Given the description of an element on the screen output the (x, y) to click on. 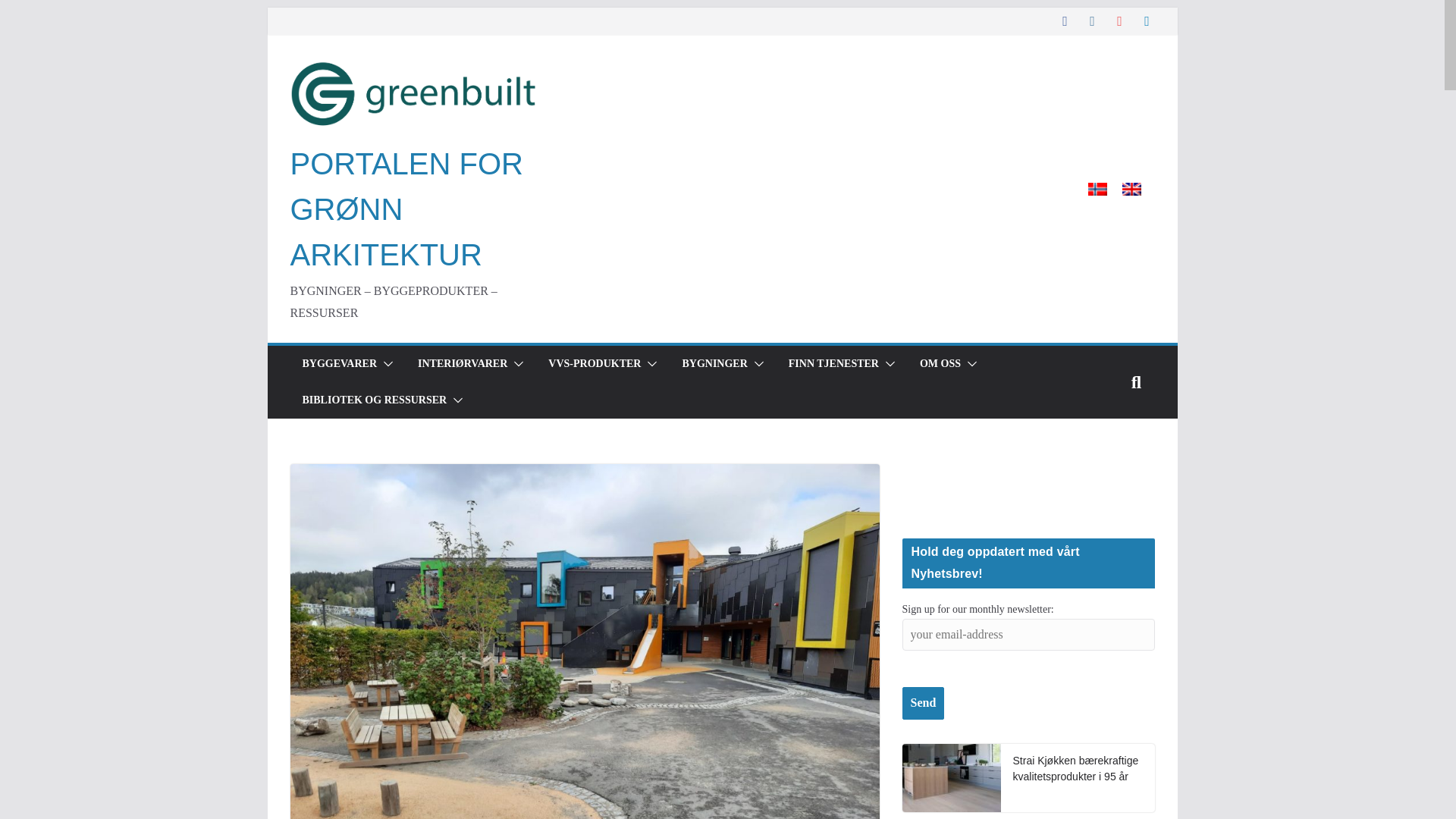
Send (923, 703)
BYGGEVARER (339, 363)
